Given the description of an element on the screen output the (x, y) to click on. 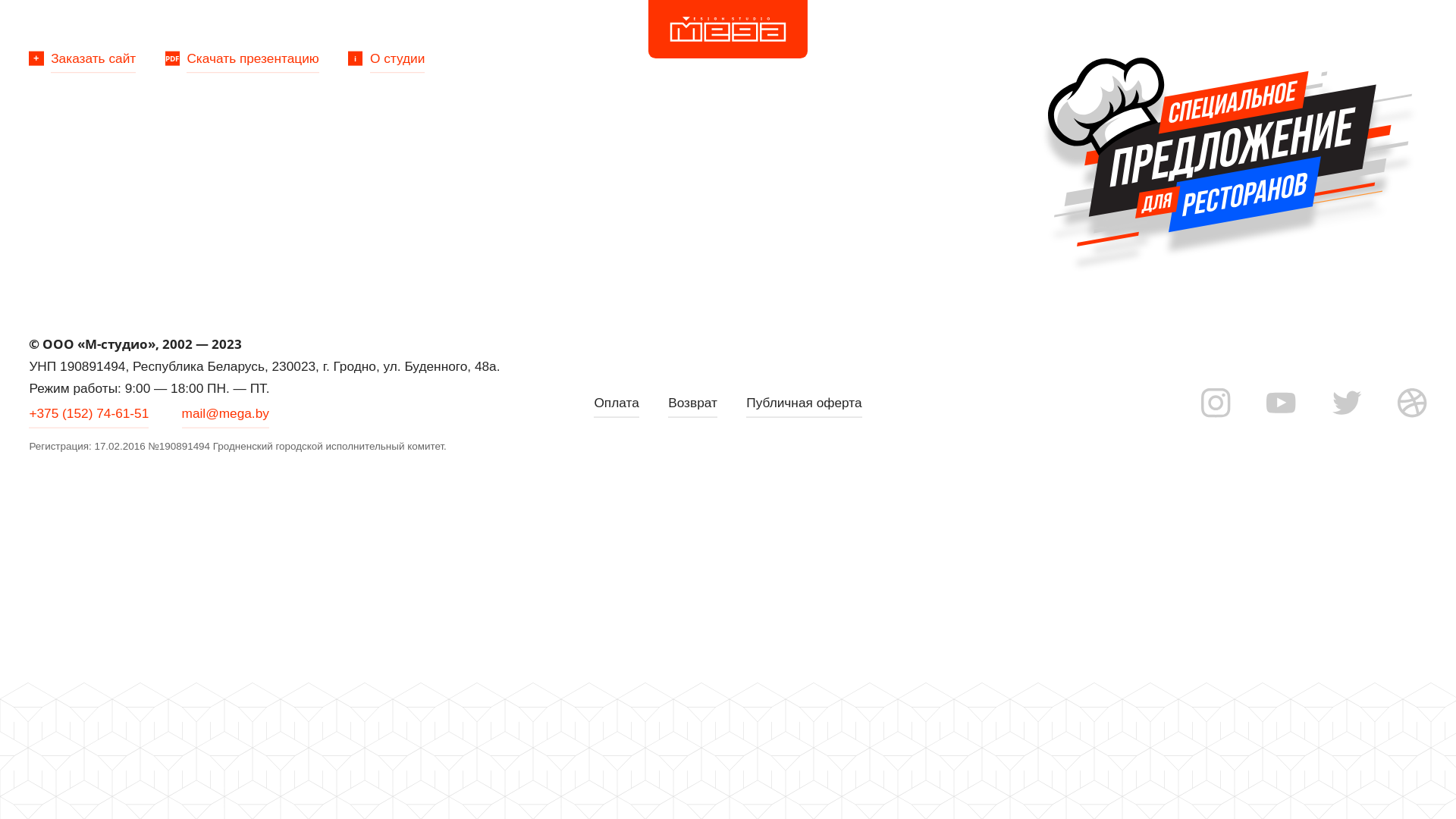
mail@mega.by Element type: text (225, 413)
+375 (152) 74-61-51 Element type: text (88, 413)
